Given the description of an element on the screen output the (x, y) to click on. 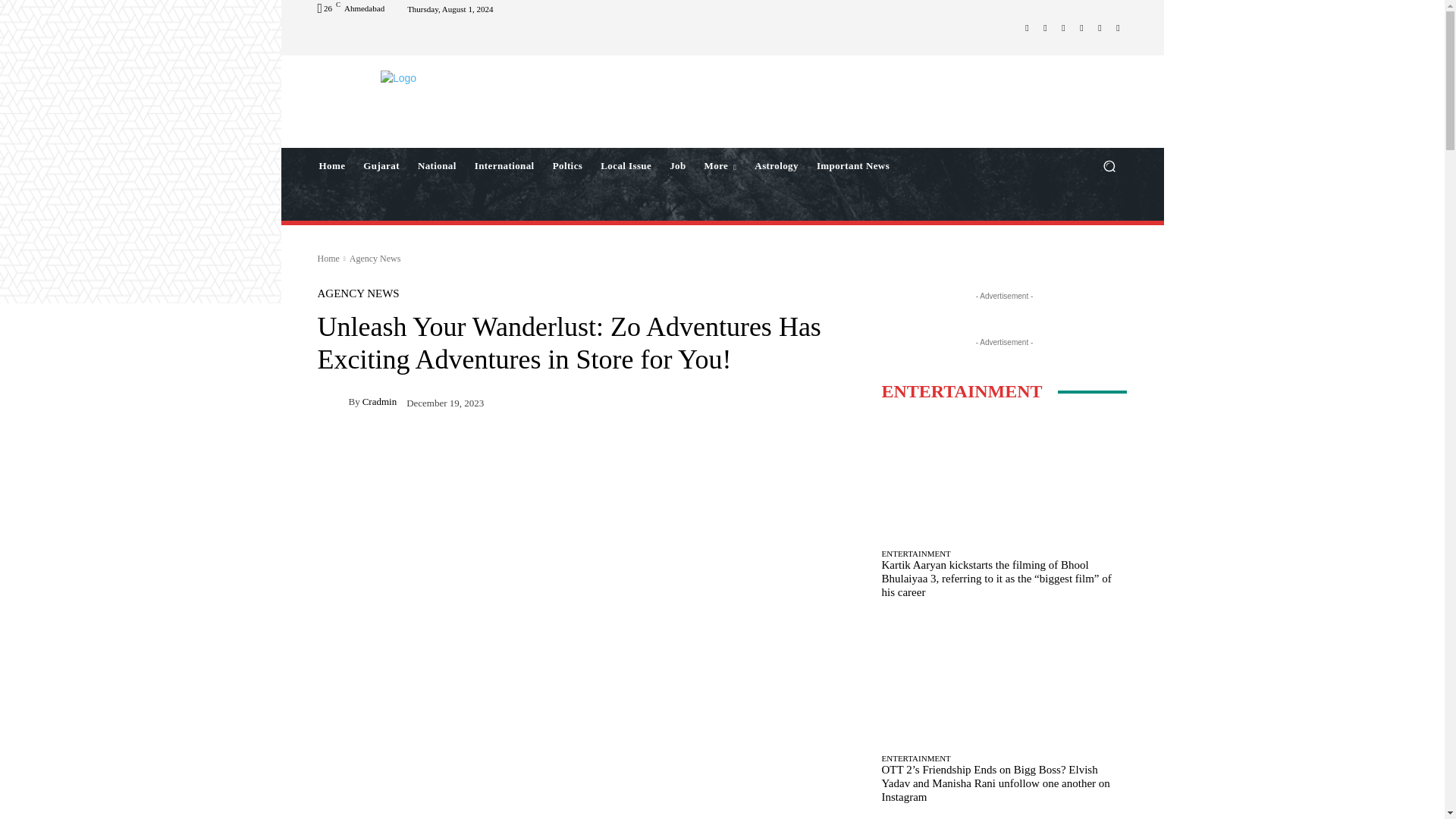
Instagram (1044, 27)
WhatsApp (1099, 27)
Facebook (1026, 27)
Twitter (1080, 27)
Youtube (1117, 27)
Mail (1062, 27)
